Given the description of an element on the screen output the (x, y) to click on. 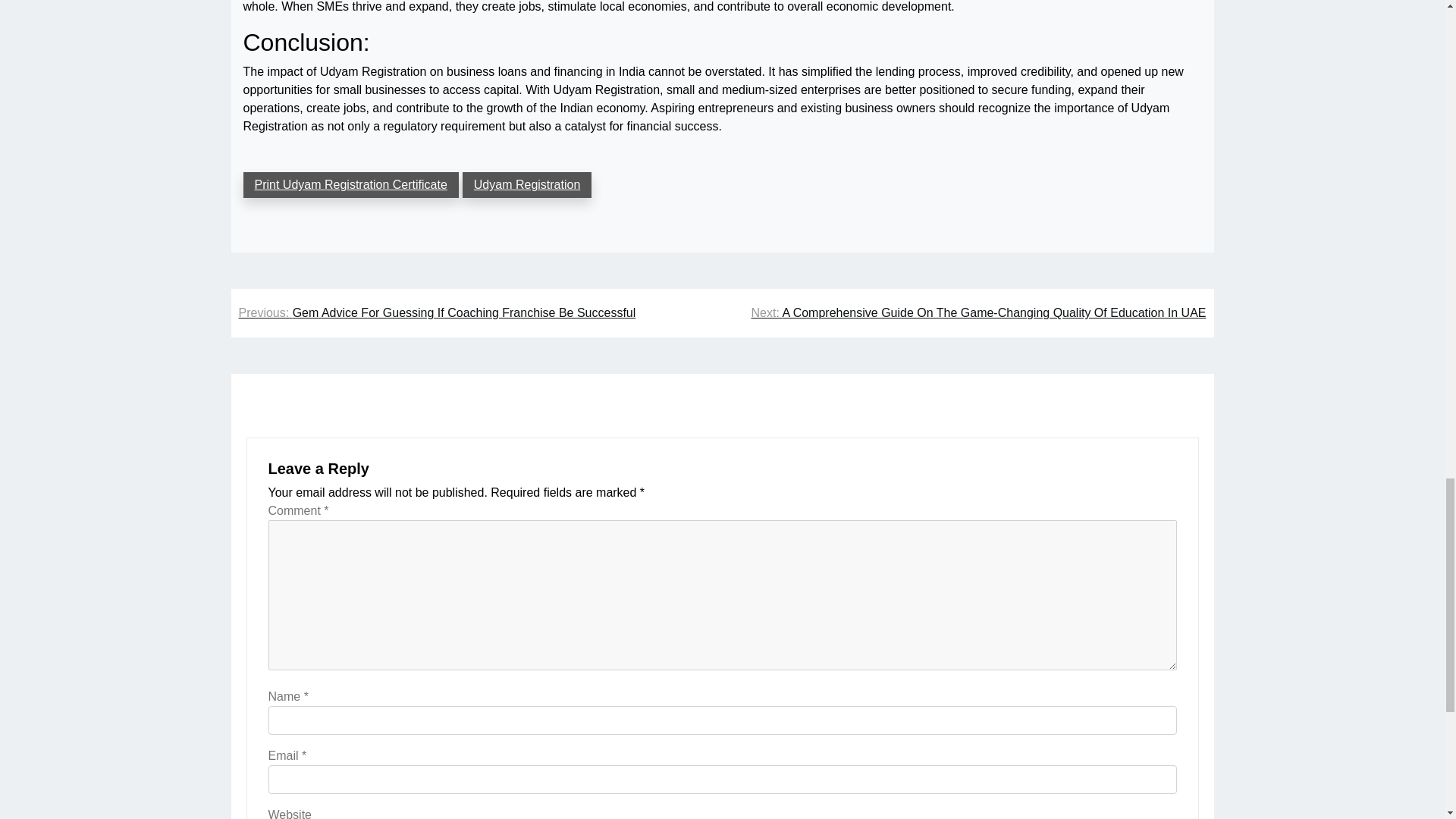
Udyam Registration (527, 184)
Print Udyam Registration Certificate (350, 184)
